Given the description of an element on the screen output the (x, y) to click on. 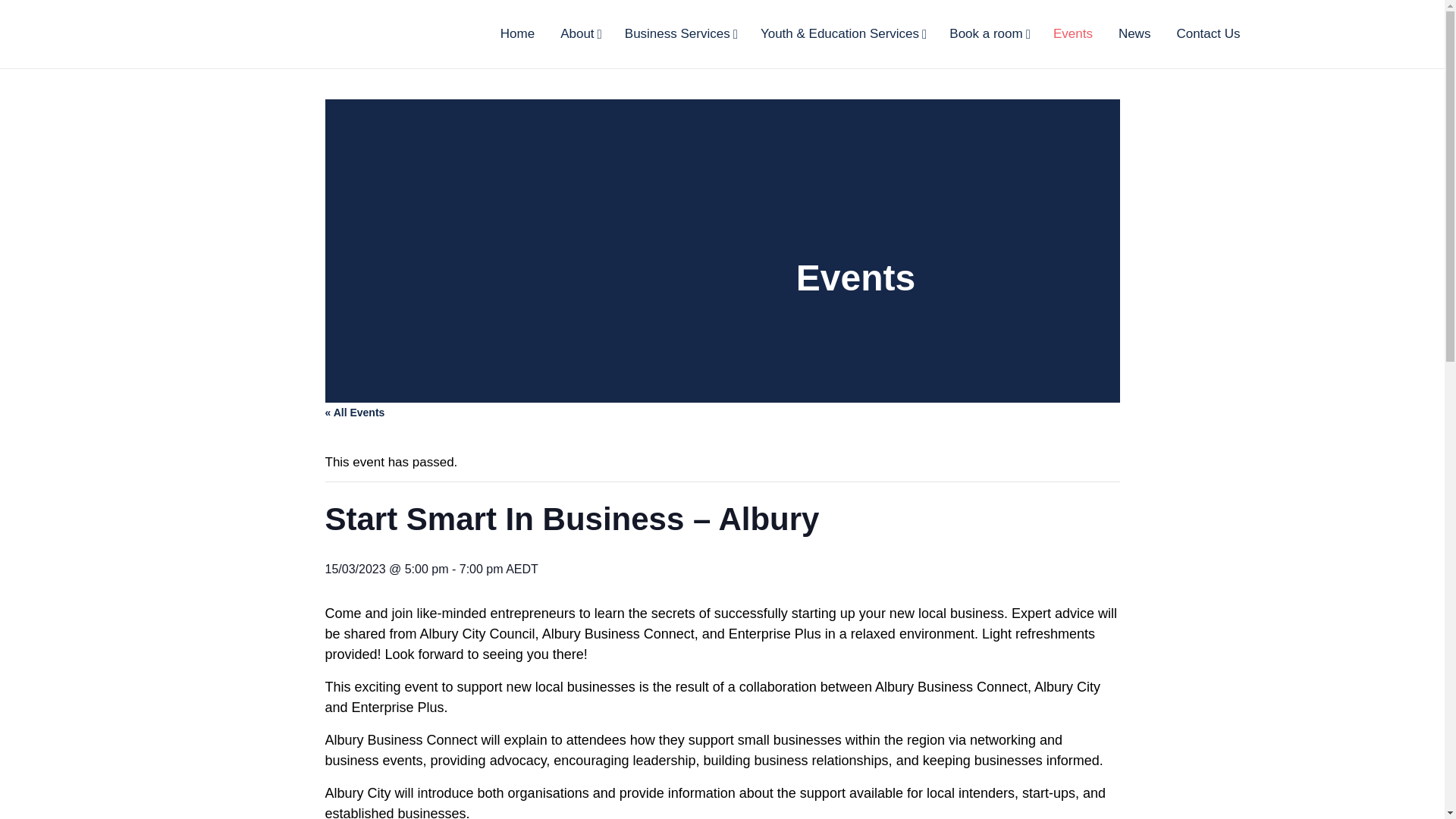
Book a room (988, 33)
Events (1073, 33)
Contact Us (1207, 33)
Business Services (679, 33)
About (579, 33)
